Given the description of an element on the screen output the (x, y) to click on. 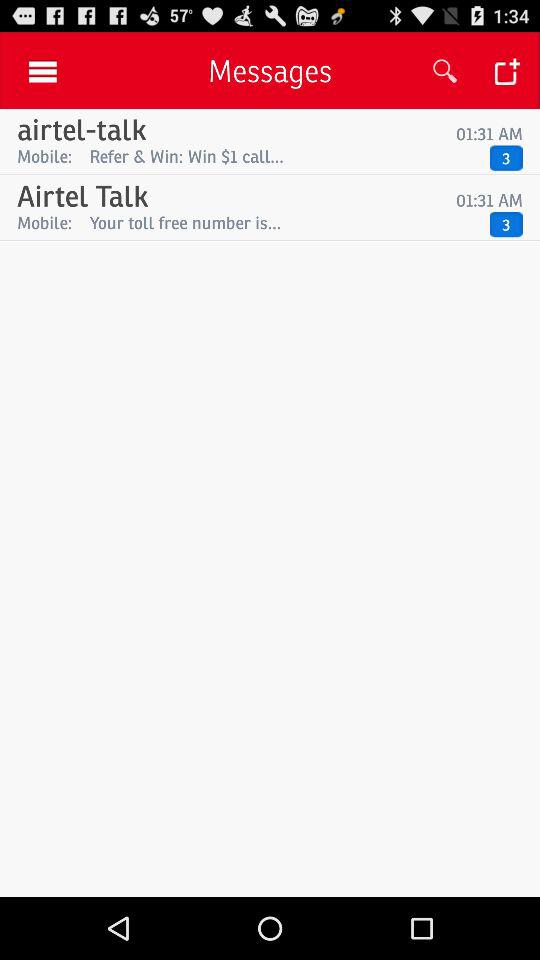
turn off icon to the right of the mobile: item (284, 156)
